Given the description of an element on the screen output the (x, y) to click on. 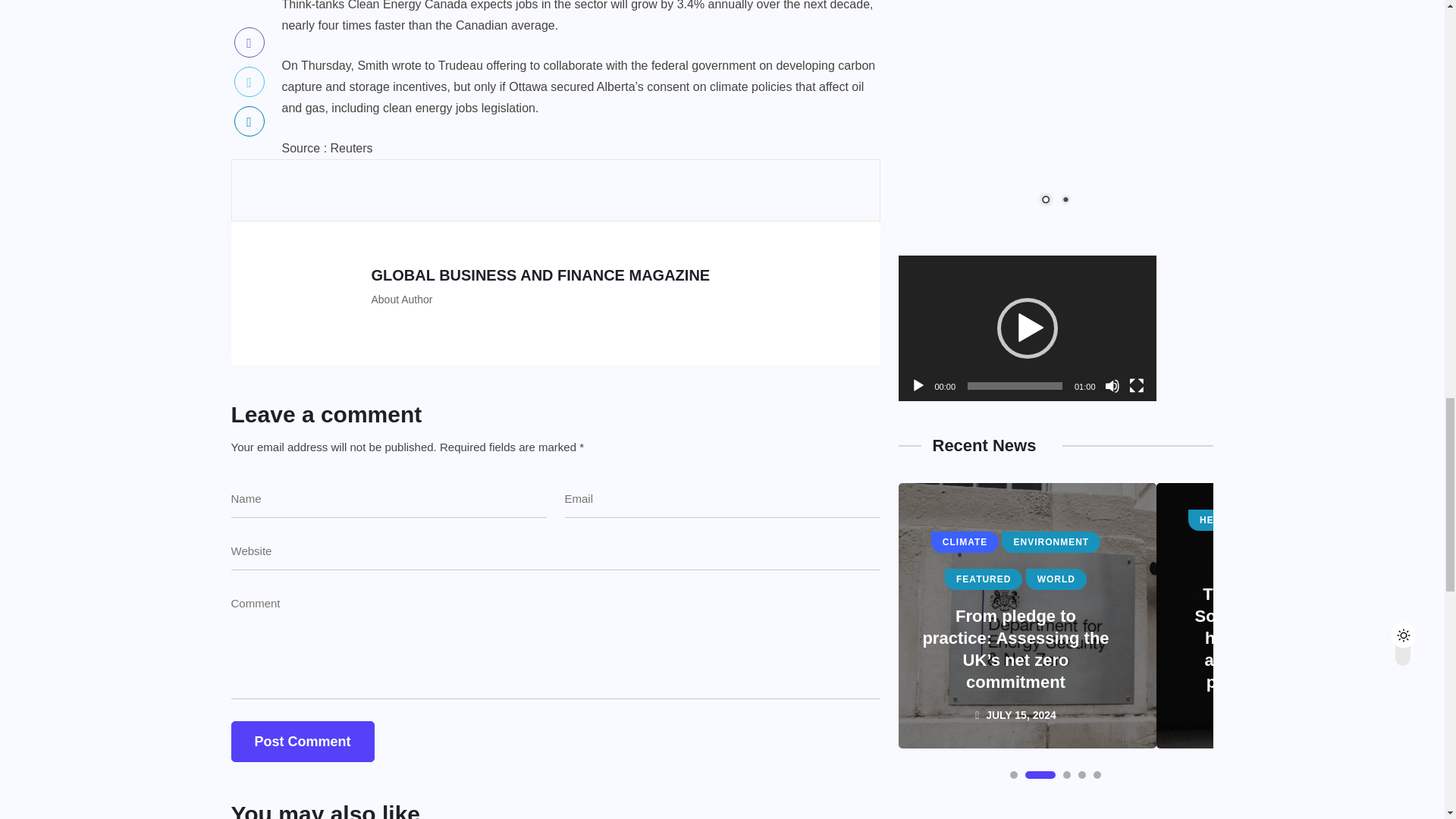
Post Comment (302, 741)
